Given the description of an element on the screen output the (x, y) to click on. 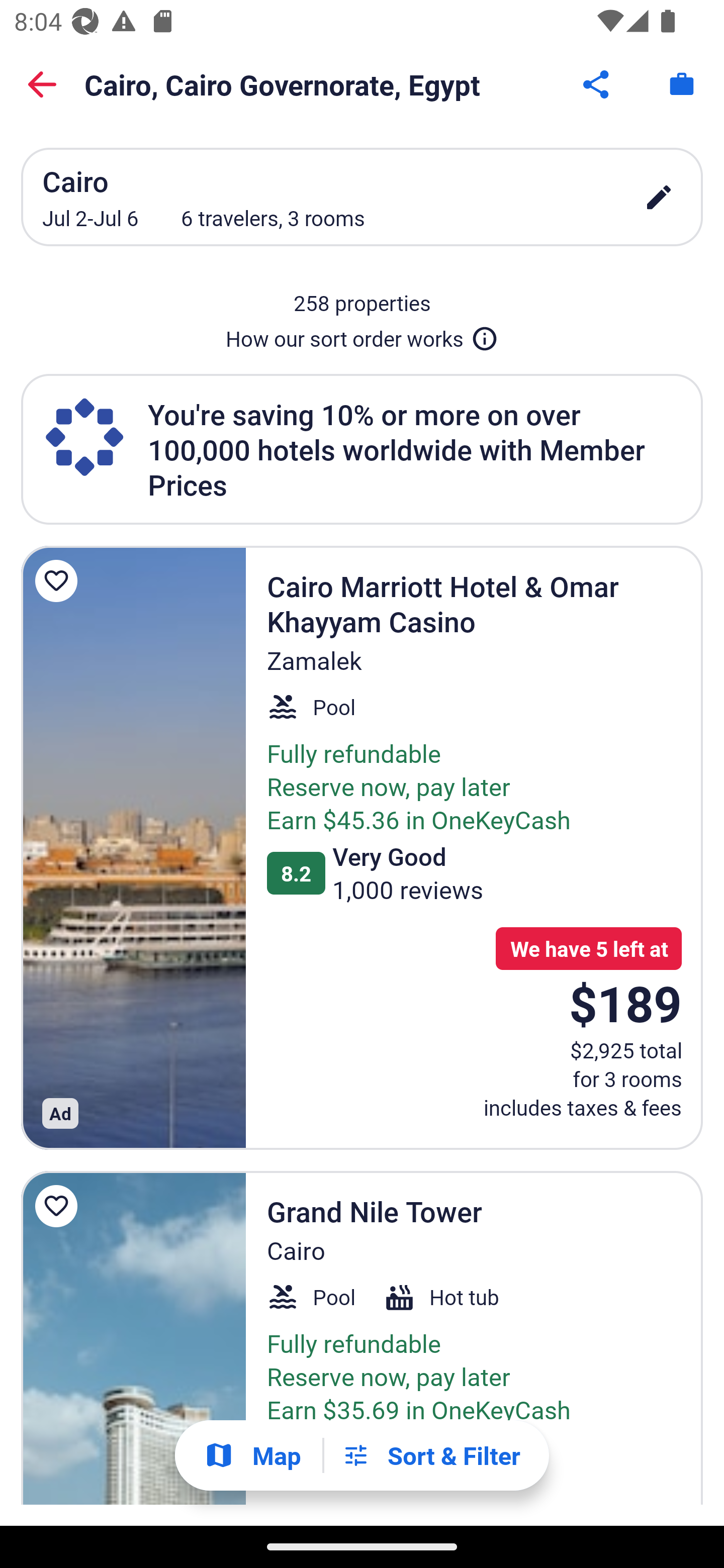
Back (42, 84)
Share Button (597, 84)
Trips. Button (681, 84)
Cairo Jul 2-Jul 6 6 travelers, 3 rooms edit (361, 196)
How our sort order works (361, 334)
Cairo Marriott Hotel & Omar Khayyam Casino (133, 847)
Save Grand Nile Tower to a trip (59, 1205)
Grand Nile Tower (133, 1338)
Filters Sort & Filter Filters Button (430, 1455)
Show map Map Show map Button (252, 1455)
